Given the description of an element on the screen output the (x, y) to click on. 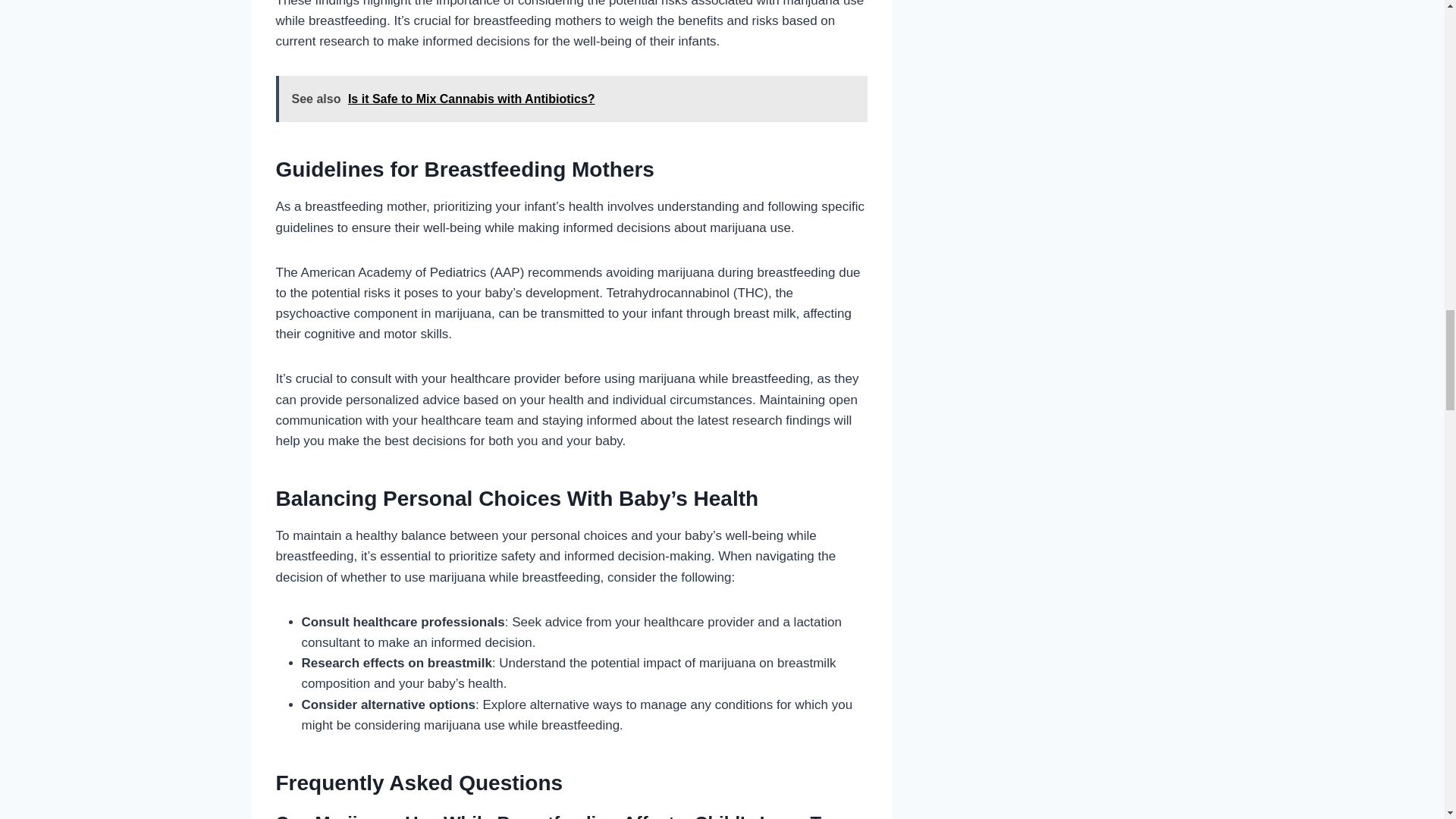
See also  Is it Safe to Mix Cannabis with Antibiotics? (571, 99)
